Given the description of an element on the screen output the (x, y) to click on. 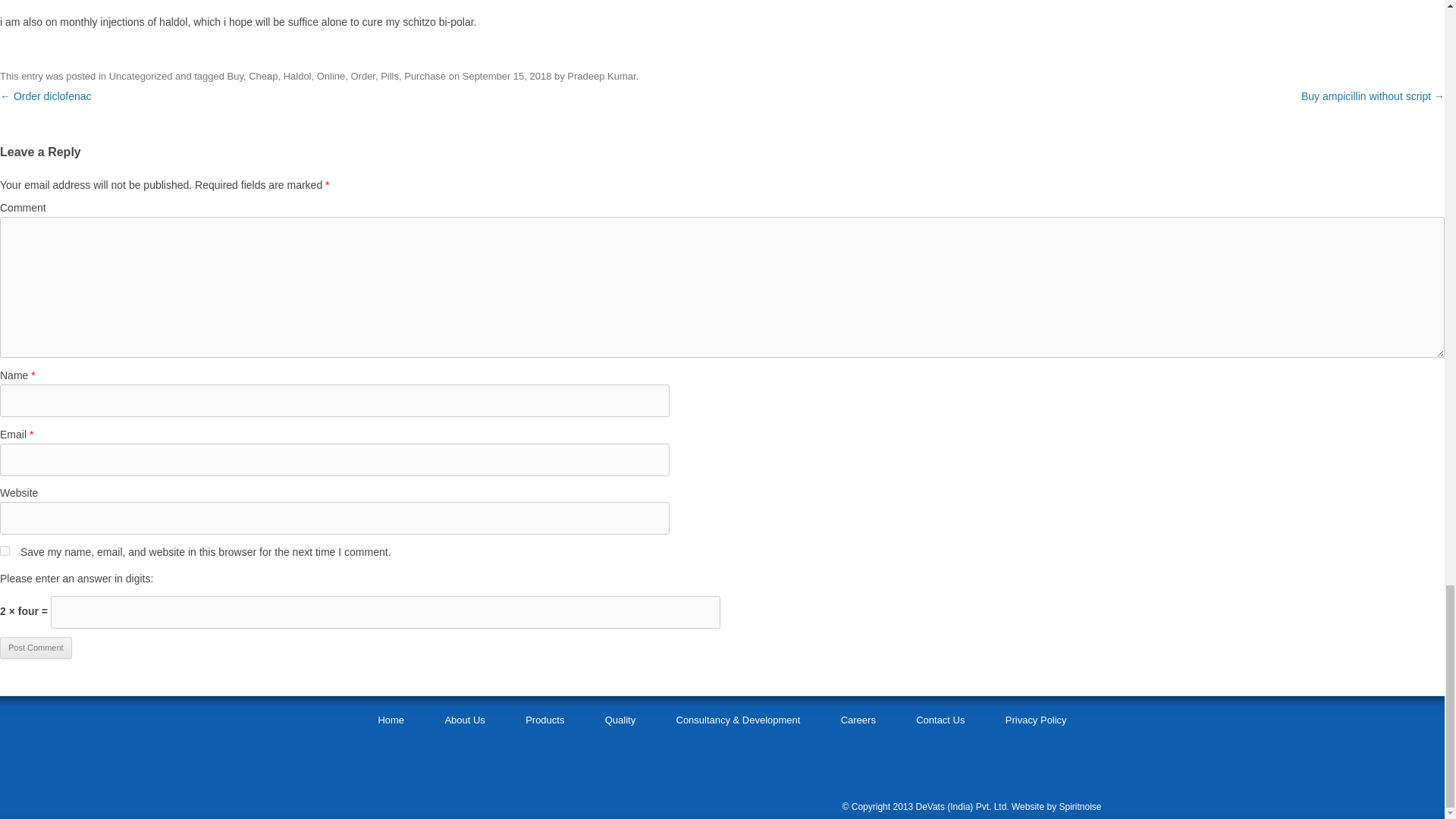
Post Comment (35, 648)
Haldol (297, 75)
Purchase (424, 75)
Pills (389, 75)
Pradeep Kumar (600, 75)
View all posts by Pradeep Kumar (600, 75)
2:28 pm (507, 75)
Online (331, 75)
yes (5, 551)
Buy (235, 75)
Cheap (263, 75)
Order (362, 75)
Uncategorized (141, 75)
Post Comment (35, 648)
September 15, 2018 (507, 75)
